Given the description of an element on the screen output the (x, y) to click on. 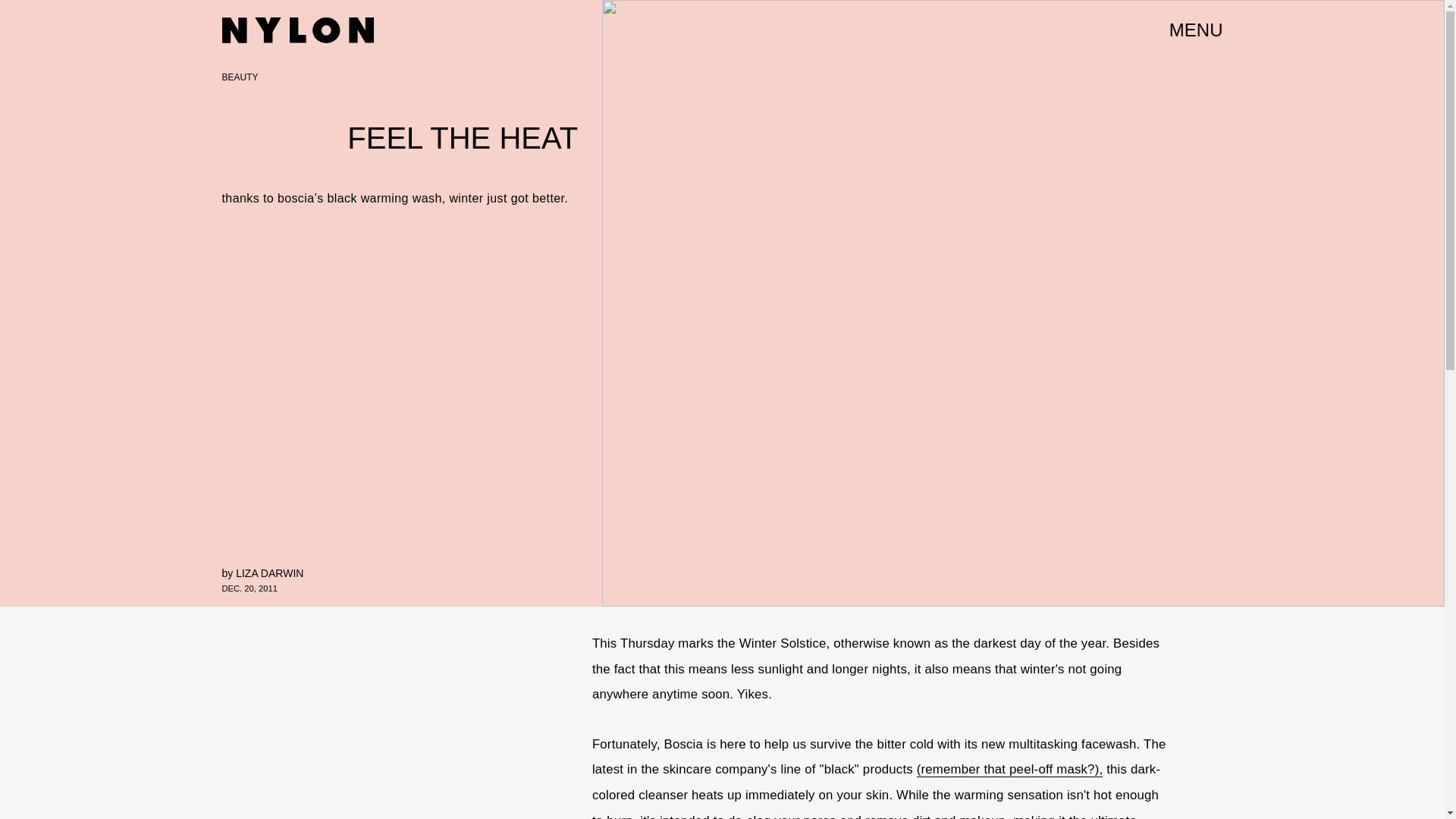
Nylon (296, 30)
